Given the description of an element on the screen output the (x, y) to click on. 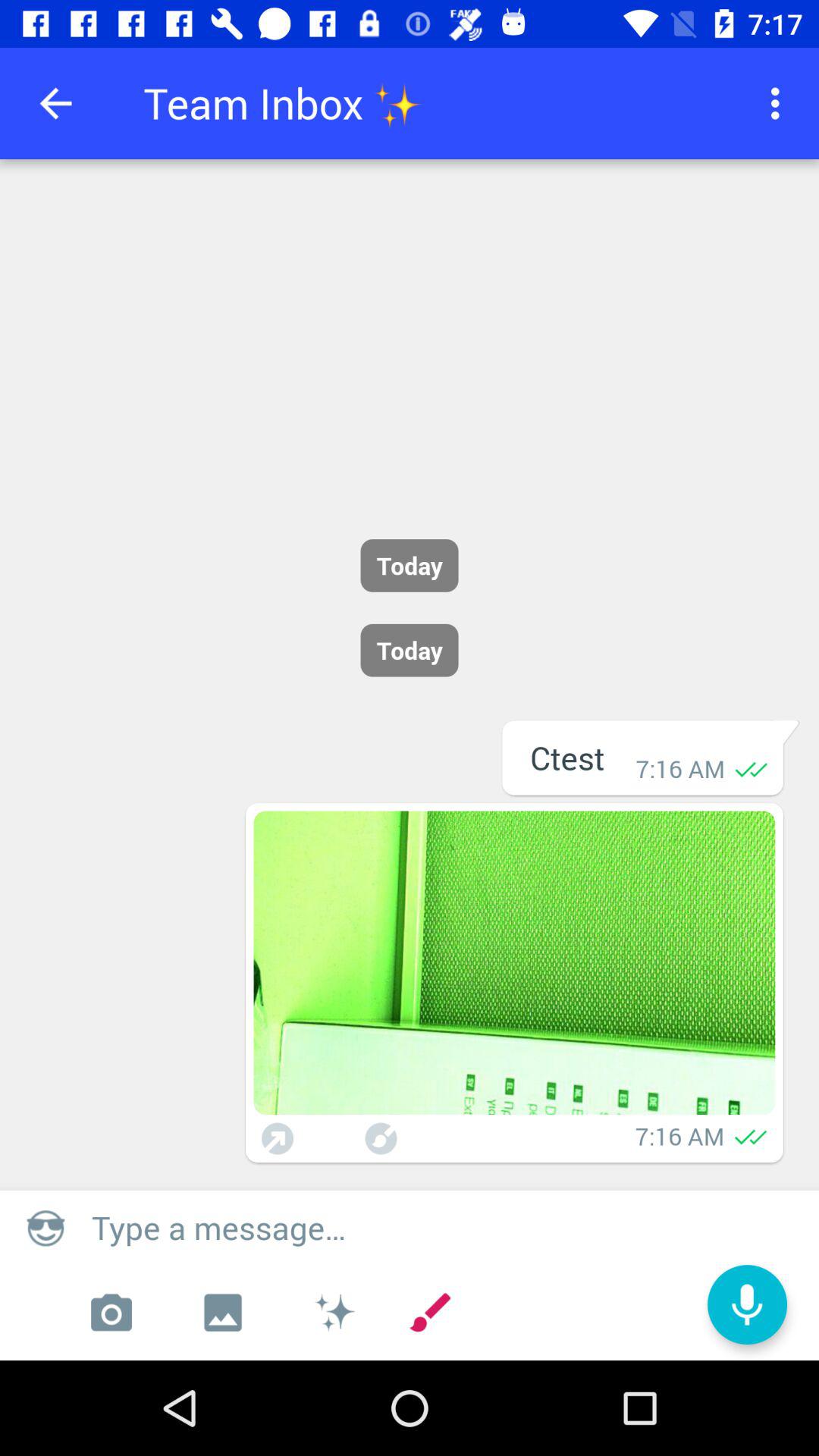
add stickers (334, 1312)
